Given the description of an element on the screen output the (x, y) to click on. 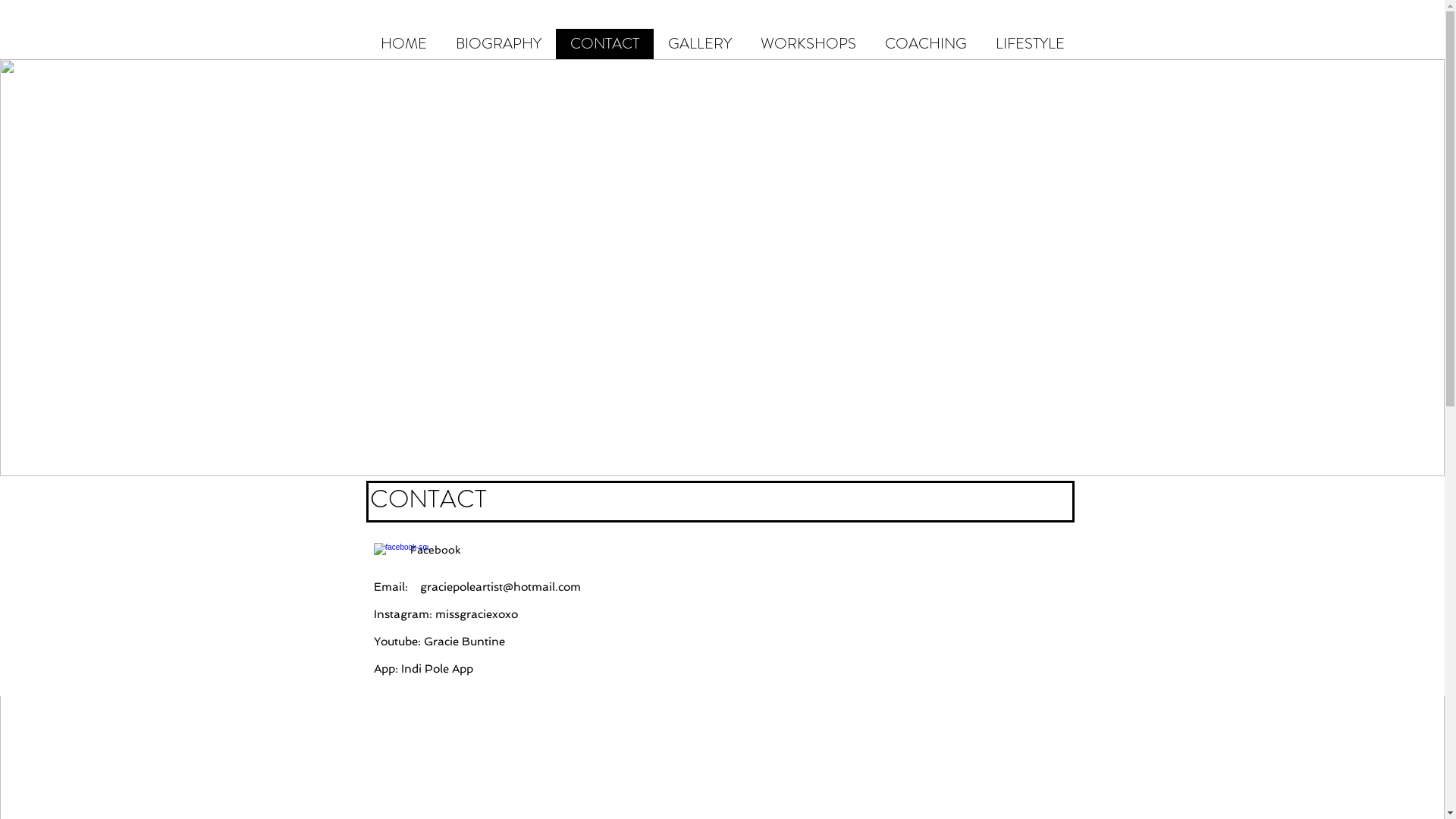
COACHING Element type: text (925, 43)
WORKSHOPS Element type: text (808, 43)
GALLERY Element type: text (699, 43)
LIFESTYLE Element type: text (1030, 43)
CONTACT Element type: text (603, 43)
graciepoleartist@hotmail.com Element type: text (500, 586)
HOME Element type: text (402, 43)
BIOGRAPHY Element type: text (498, 43)
